Given the description of an element on the screen output the (x, y) to click on. 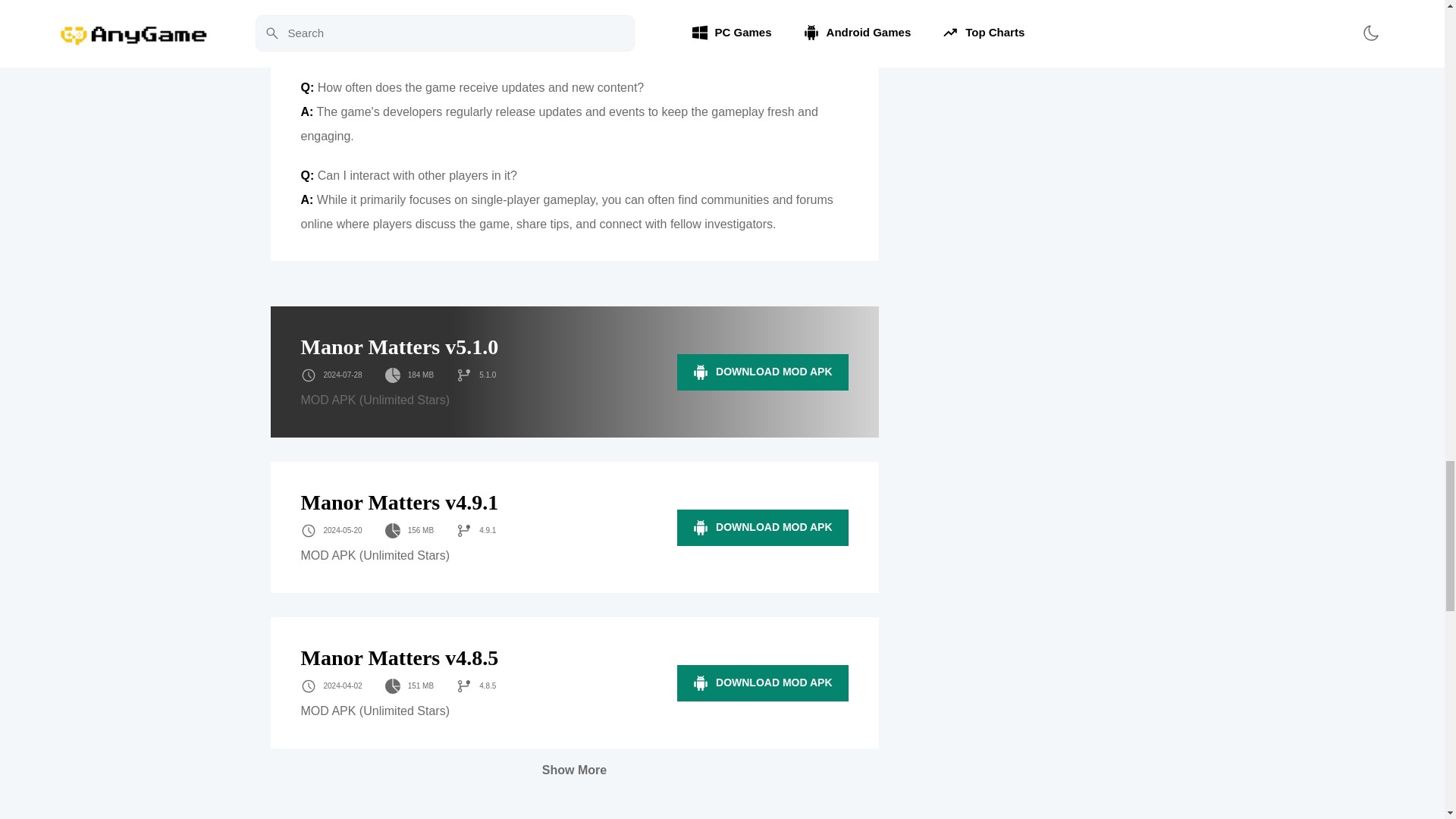
Show More (574, 770)
DOWNLOAD MOD APK (762, 683)
DOWNLOAD MOD APK (762, 371)
DOWNLOAD MOD APK (762, 527)
